Given the description of an element on the screen output the (x, y) to click on. 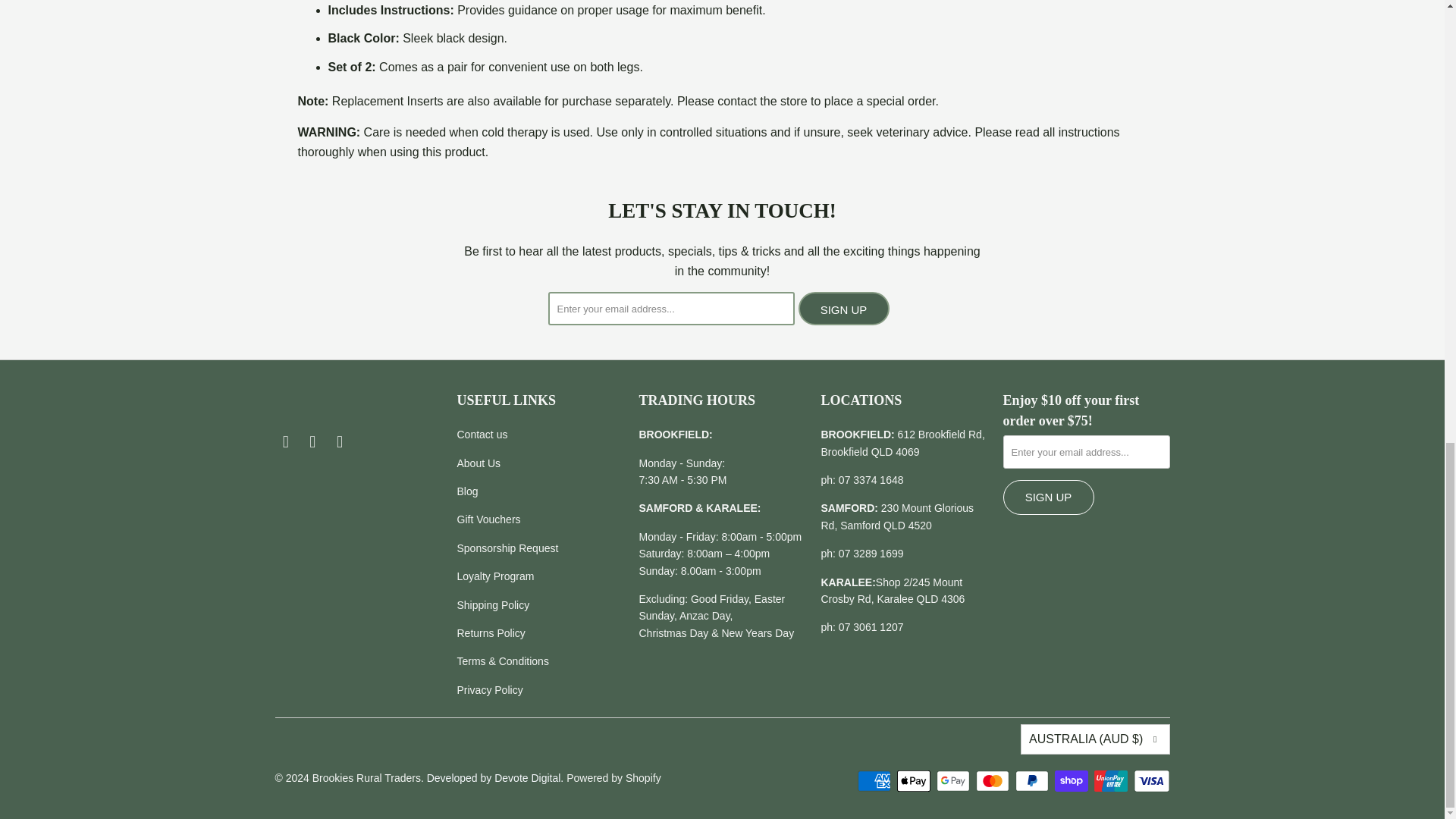
Apple Pay (914, 780)
Union Pay (1112, 780)
American Express (875, 780)
Brookies Rural Traders on Facebook (286, 442)
Google Pay (954, 780)
Brookies Rural Traders on Instagram (312, 442)
Mastercard (993, 780)
Visa (1150, 780)
Shop Pay (1072, 780)
PayPal (1032, 780)
Sign Up (1048, 497)
Sign Up (842, 308)
Brookies Rural Traders on YouTube (340, 442)
